Given the description of an element on the screen output the (x, y) to click on. 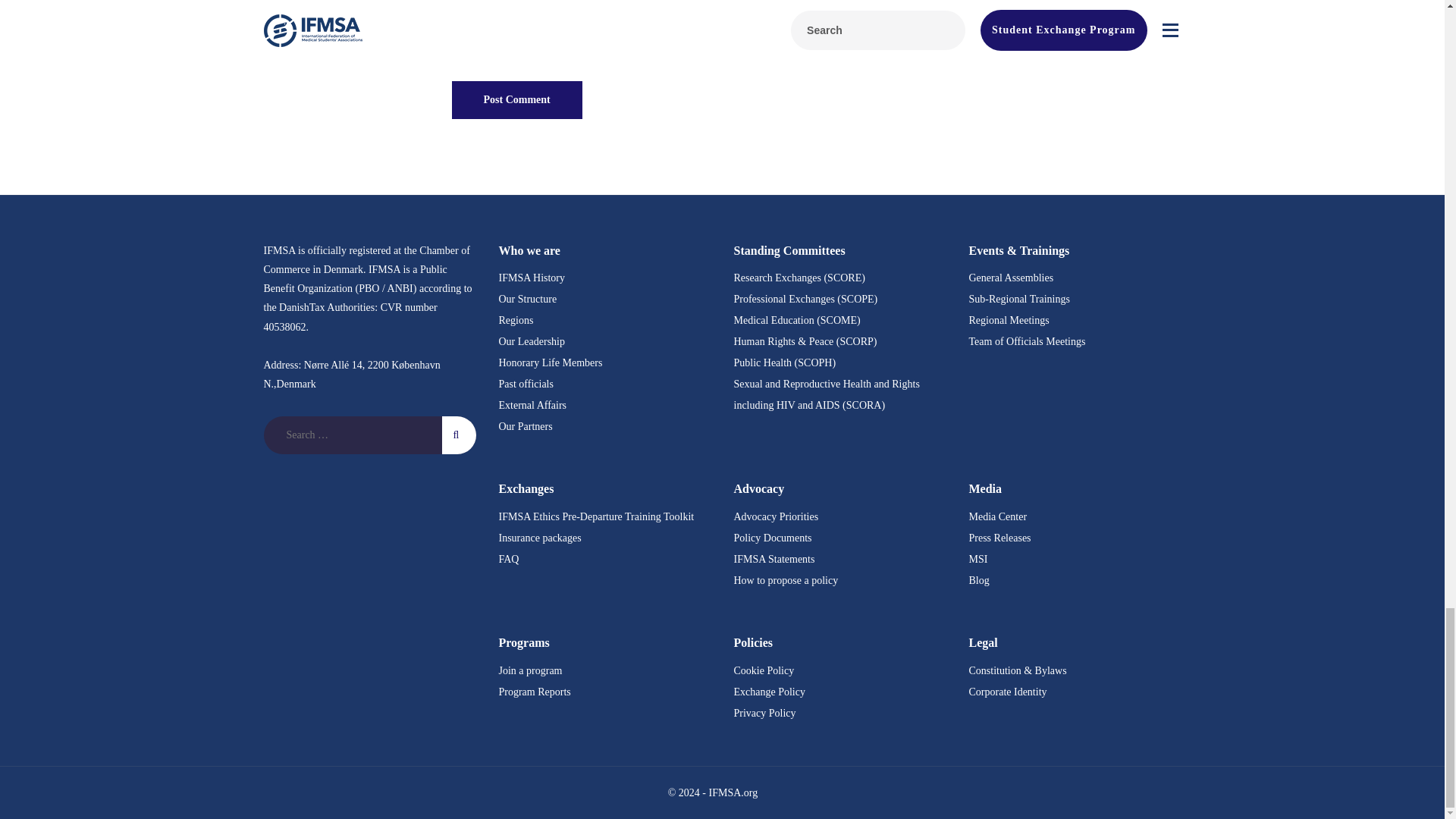
yes (456, 50)
Post Comment (516, 99)
